Given the description of an element on the screen output the (x, y) to click on. 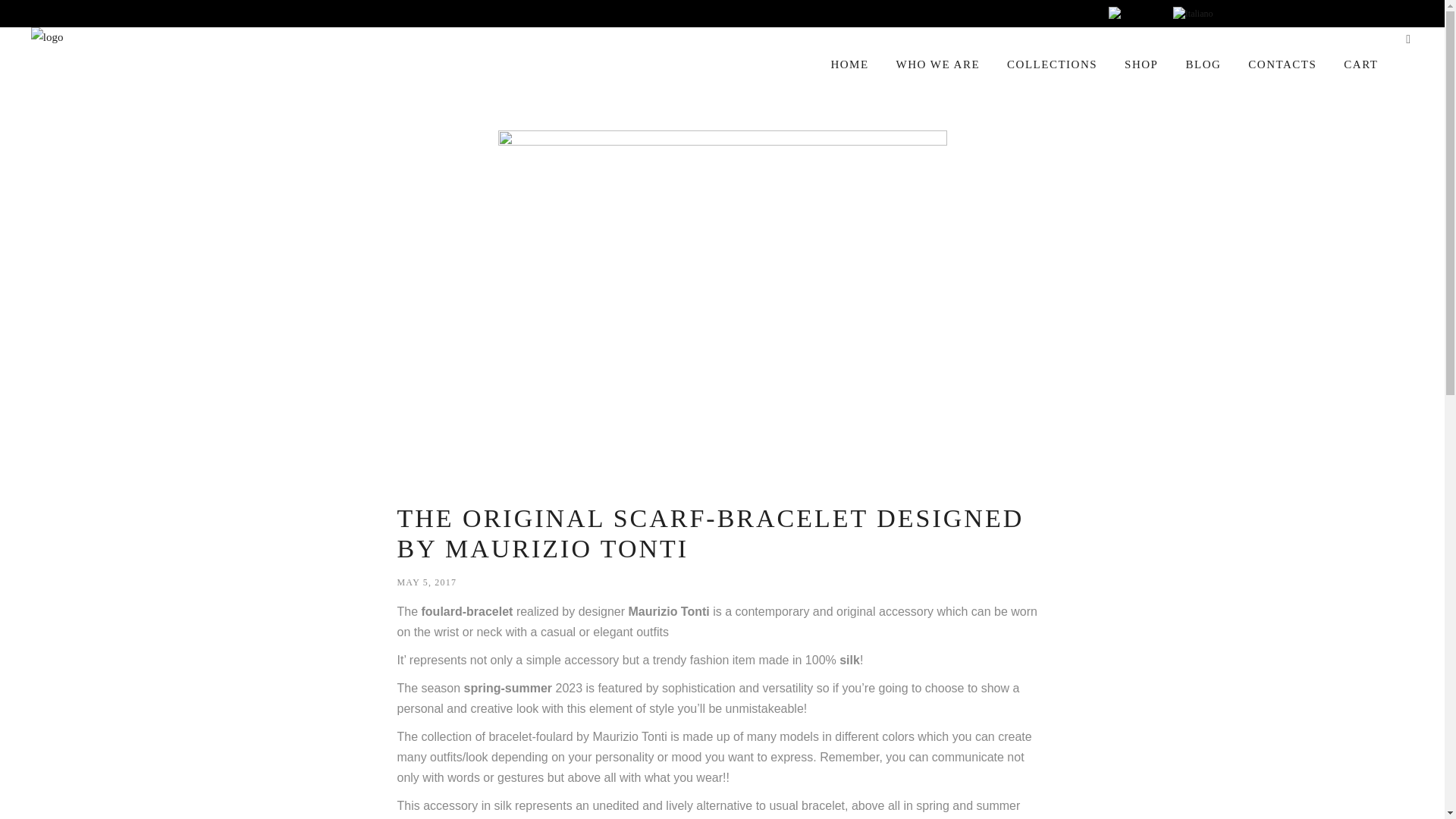
CONTACTS (1282, 63)
COLLECTIONS (1051, 63)
HOME (849, 63)
WHO WE ARE (938, 63)
